Given the description of an element on the screen output the (x, y) to click on. 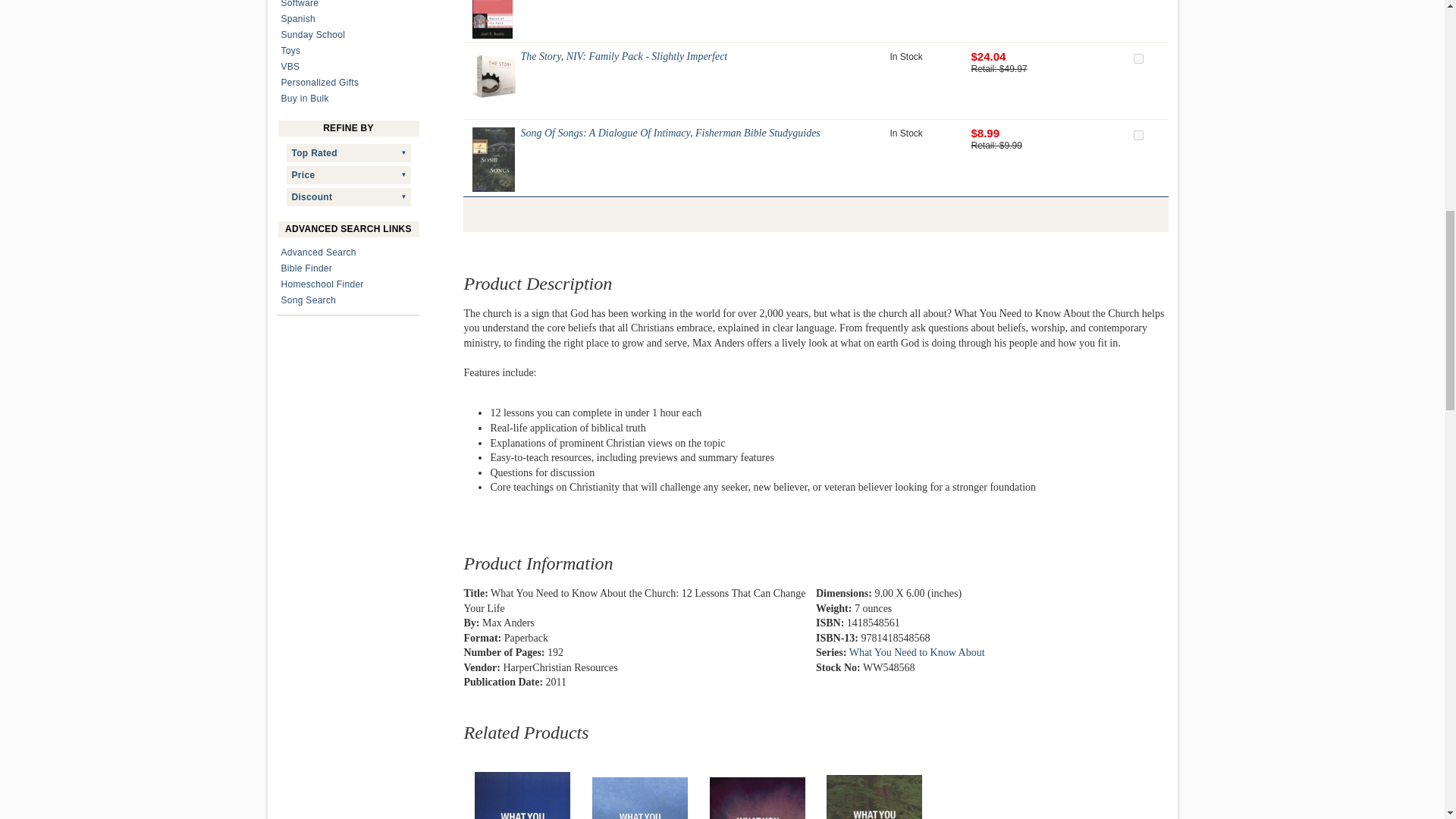
The Story, NIV: Family Pack   - Slightly Imperfect (494, 74)
What You Need to Know About the Holy Spirt in 12 Lessons (522, 795)
88264 (1137, 135)
687801DA (1137, 58)
